Given the description of an element on the screen output the (x, y) to click on. 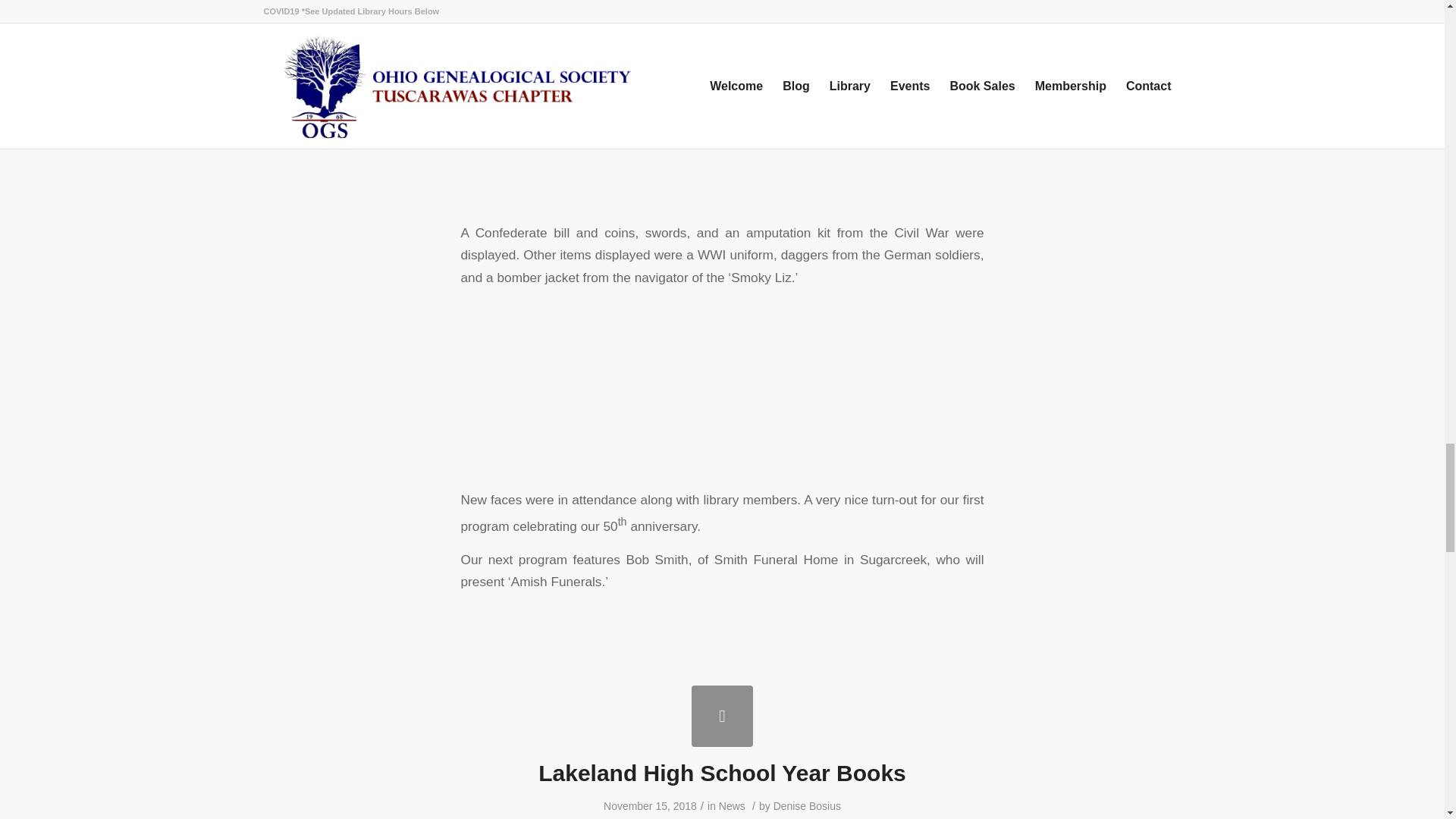
News (732, 806)
Lakeland High School Year Books (721, 772)
Denise Bosius (807, 806)
